Given the description of an element on the screen output the (x, y) to click on. 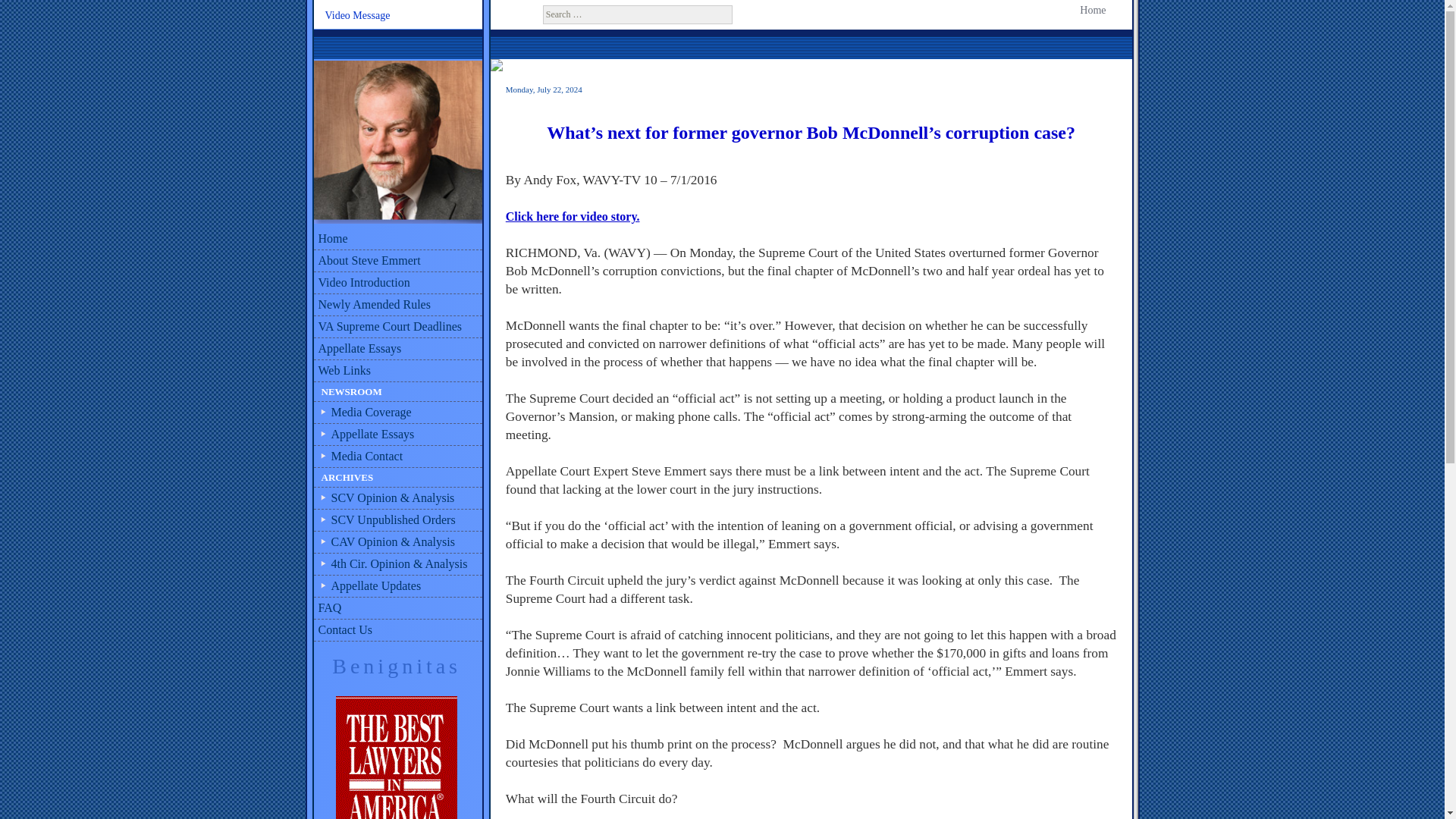
Newly Amended Rules (397, 305)
Media Contact (397, 456)
About Steve Emmert (397, 260)
Click here for video story. (572, 215)
Appellate Essays (397, 349)
Web Links (397, 371)
FAQ (397, 608)
VA Supreme Court Deadlines (397, 327)
Media Coverage (397, 413)
Appellate Updates (397, 586)
Video Message (357, 15)
Appellate Essays (397, 434)
Video Introduction (397, 282)
Contact Us (397, 630)
SCV Unpublished Orders (397, 520)
